Given the description of an element on the screen output the (x, y) to click on. 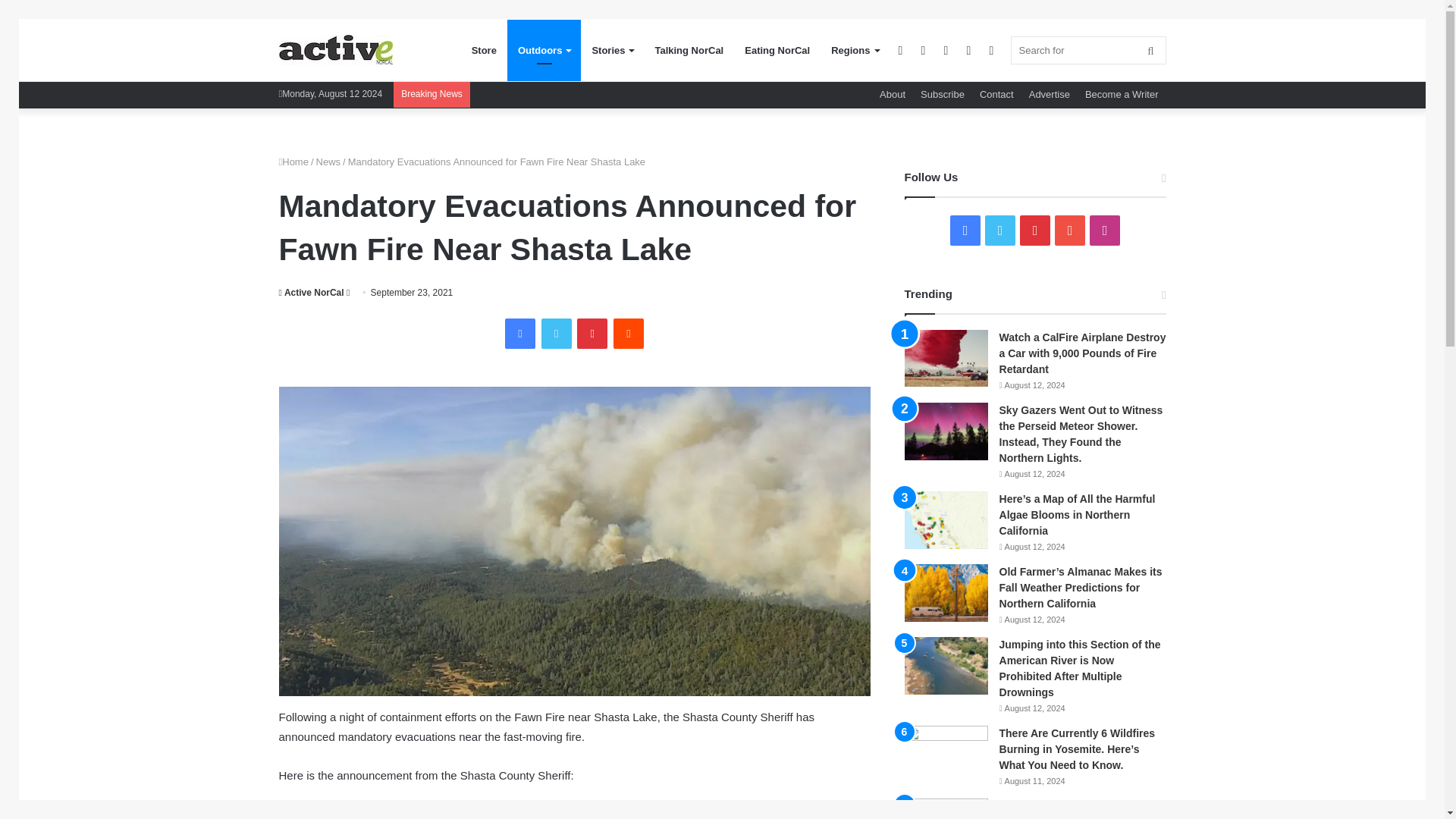
Outdoors (543, 50)
Reddit (627, 333)
Search for (1088, 50)
Eating NorCal (777, 50)
Twitter (556, 333)
Active NorCal (311, 292)
Facebook (520, 333)
Regions (854, 50)
Talking NorCal (688, 50)
Active NorCal (336, 50)
